Given the description of an element on the screen output the (x, y) to click on. 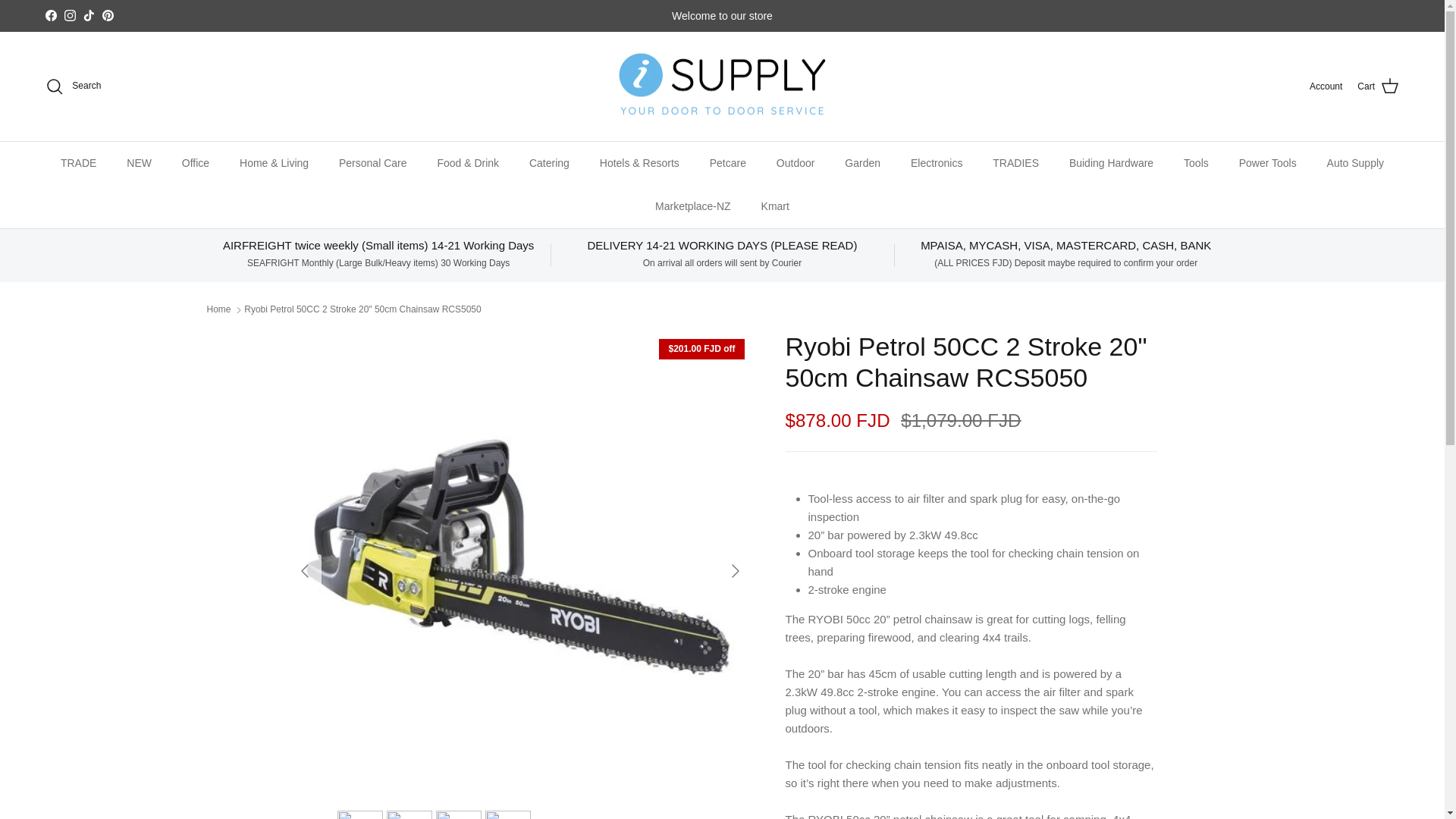
Search (72, 85)
Account (1325, 86)
i Supply Solutions NZ   (721, 86)
Facebook (50, 15)
i Supply Solutions NZ   on TikTok (88, 15)
Pinterest (107, 15)
i Supply Solutions NZ   on Instagram (69, 15)
TikTok (88, 15)
TRADE (78, 163)
i Supply Solutions NZ   on Facebook (50, 15)
Instagram (69, 15)
i Supply Solutions NZ   on Pinterest (107, 15)
Cart (1377, 86)
